Given the description of an element on the screen output the (x, y) to click on. 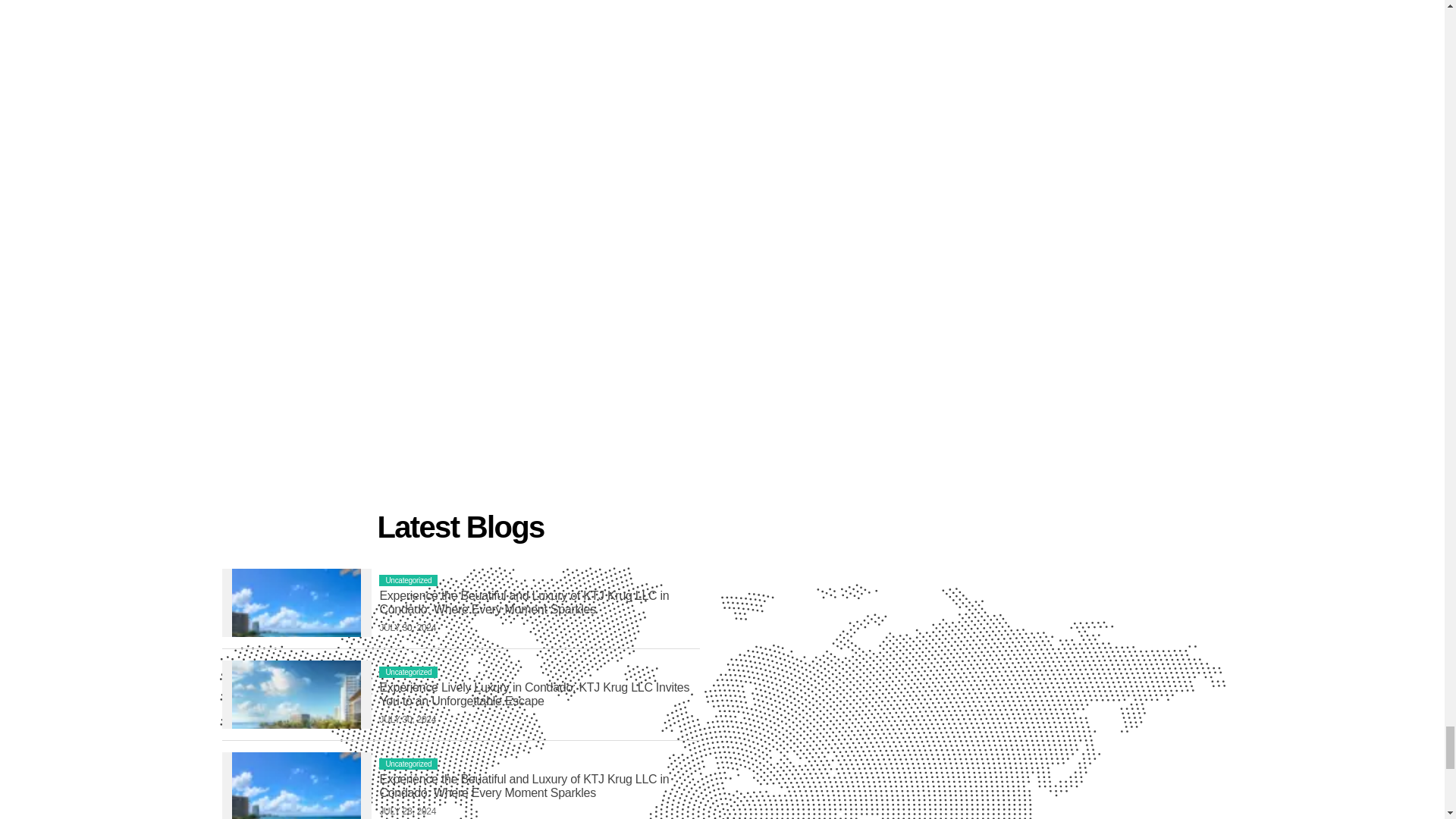
Uncategorized (408, 580)
Uncategorized (408, 672)
Uncategorized (408, 763)
